Given the description of an element on the screen output the (x, y) to click on. 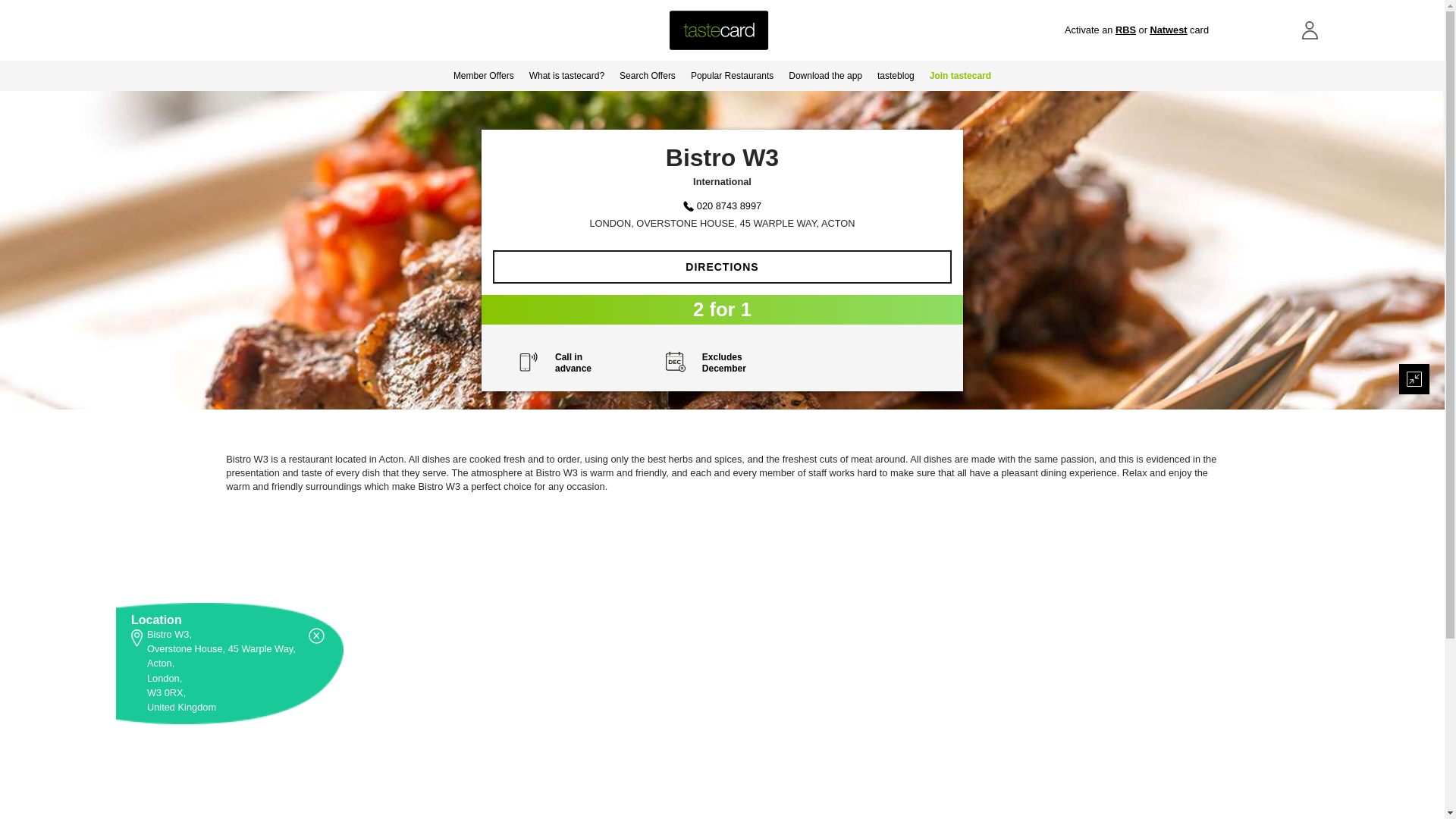
What is tastecard? (566, 75)
Member Offers (483, 75)
DIRECTIONS (722, 266)
Natwest (1168, 30)
Popular Restaurants (731, 75)
020 8743 8997 (729, 205)
Search Offers (646, 75)
RBS (1125, 30)
tasteblog (895, 75)
Join tastecard (959, 75)
Download the app (824, 75)
